Given the description of an element on the screen output the (x, y) to click on. 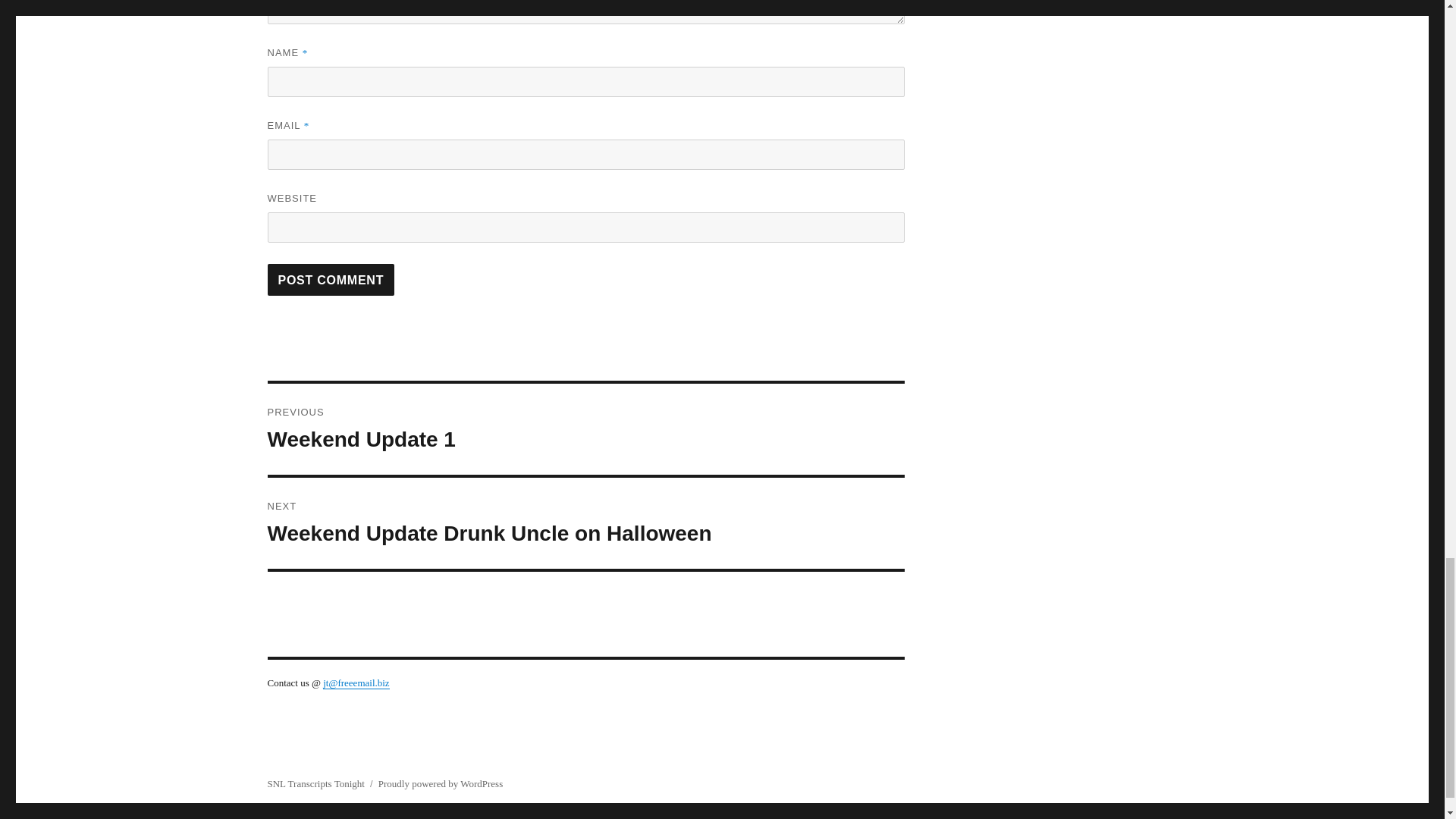
Post Comment (330, 279)
Post Comment (585, 522)
Proudly powered by WordPress (330, 279)
SNL Transcripts Tonight (440, 783)
